Given the description of an element on the screen output the (x, y) to click on. 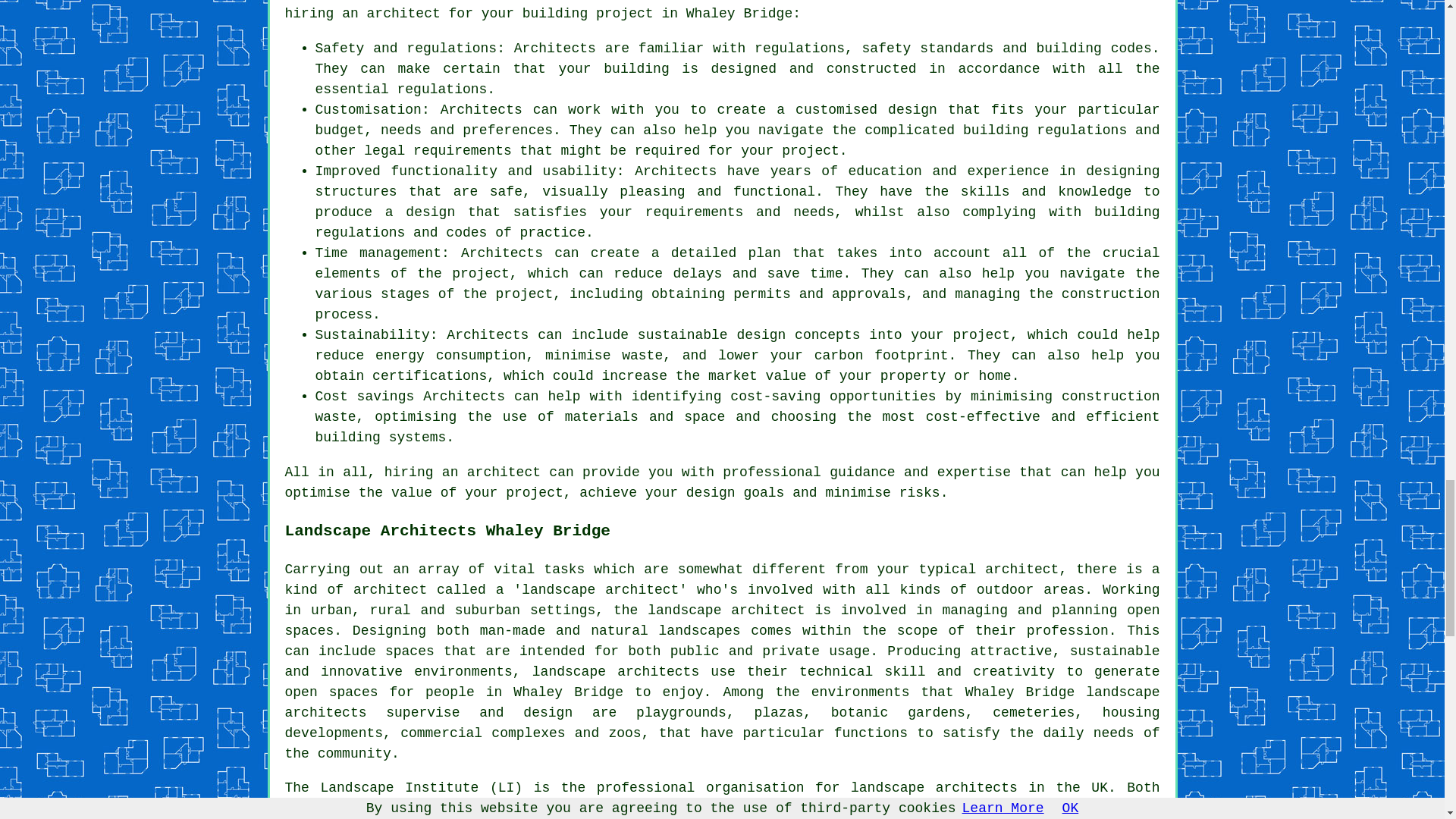
an architect (391, 13)
